Given the description of an element on the screen output the (x, y) to click on. 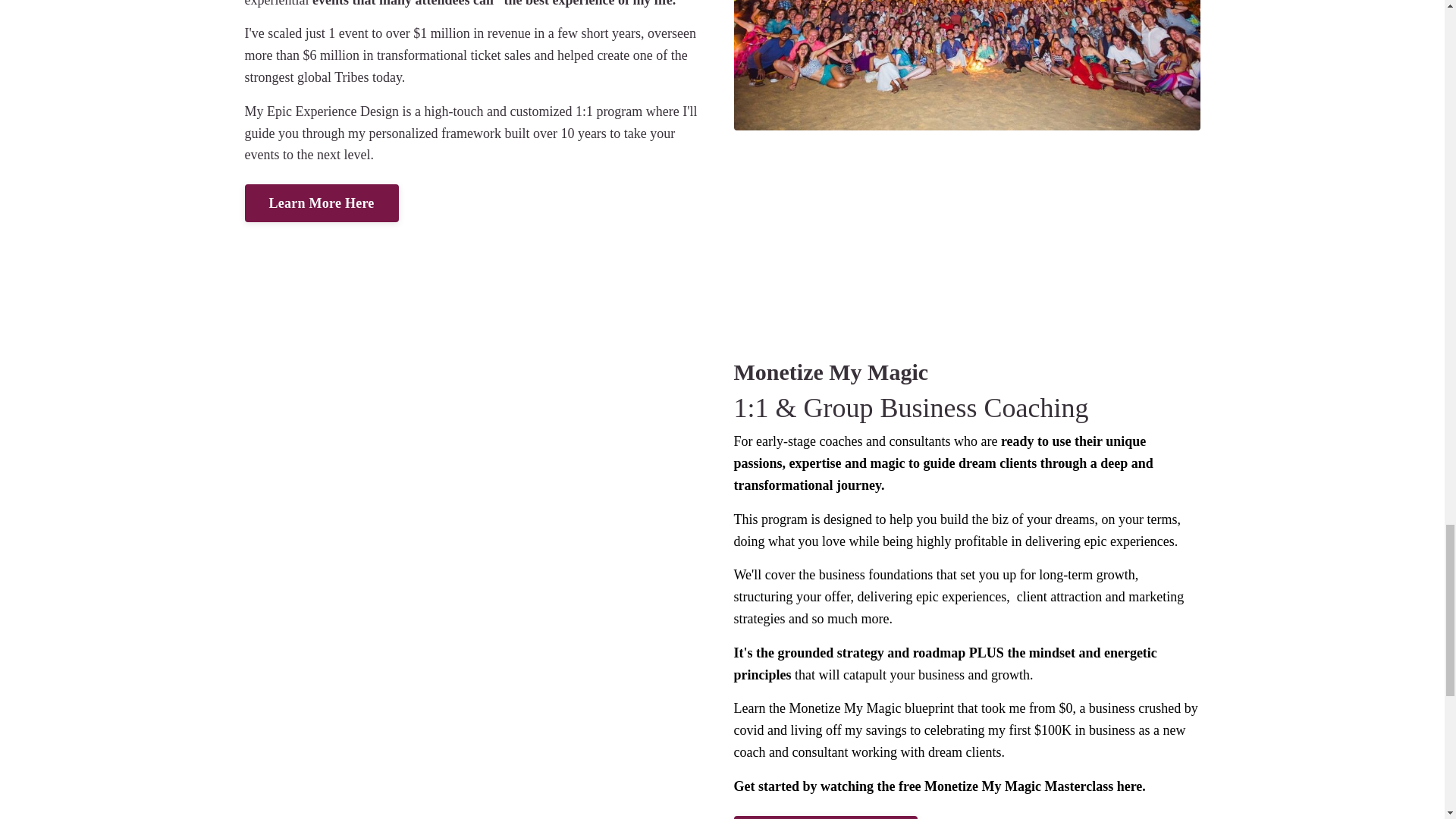
Page 4 (477, 83)
Learn More Here (320, 202)
Watch the Masterclass (825, 817)
